Given the description of an element on the screen output the (x, y) to click on. 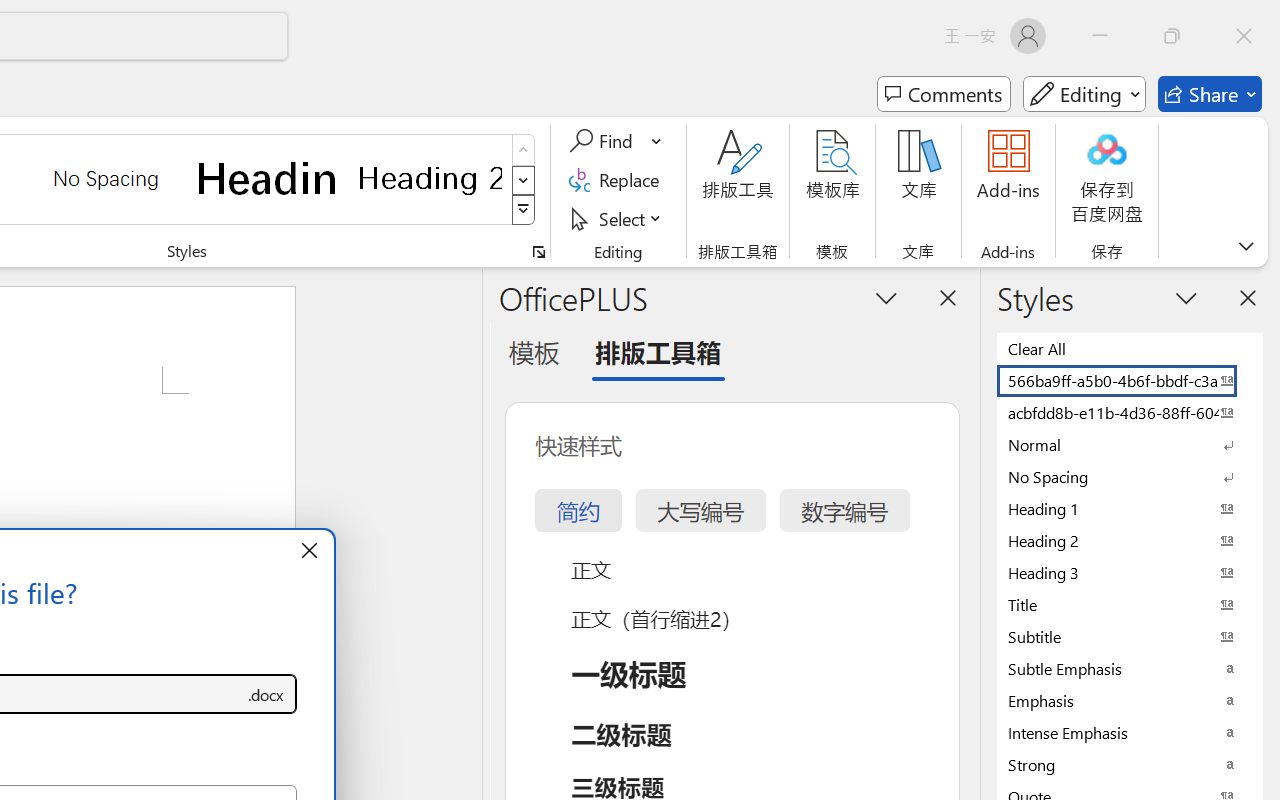
566ba9ff-a5b0-4b6f-bbdf-c3ab41993fc2 (1130, 380)
Subtitle (1130, 636)
Row up (523, 150)
Heading 3 (1130, 572)
Class: NetUIImage (523, 210)
Find (604, 141)
Ribbon Display Options (1246, 245)
Title (1130, 604)
Restore Down (1172, 36)
